Given the description of an element on the screen output the (x, y) to click on. 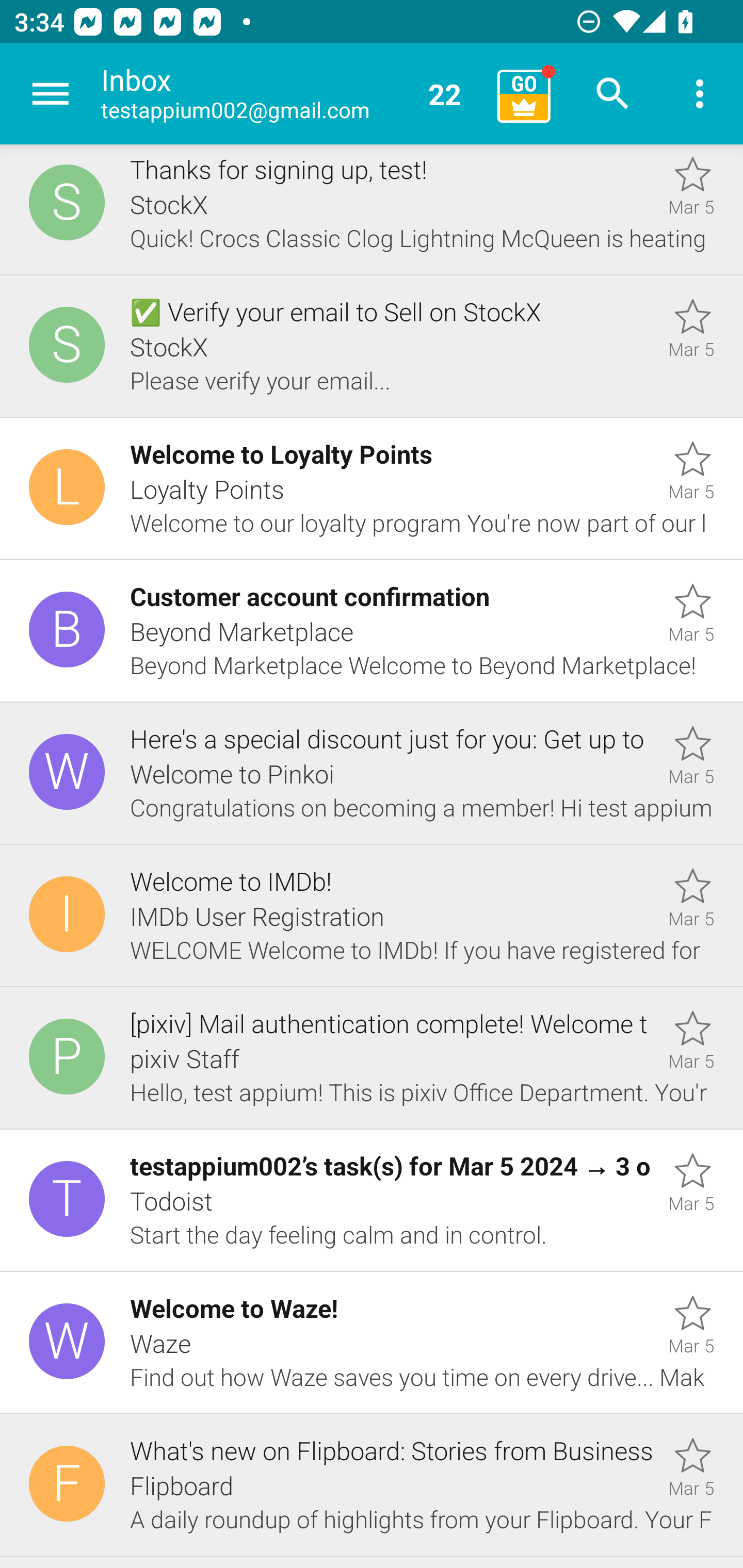
Navigate up (50, 93)
Inbox testappium002@gmail.com 22 (291, 93)
Search (612, 93)
More options (699, 93)
